Given the description of an element on the screen output the (x, y) to click on. 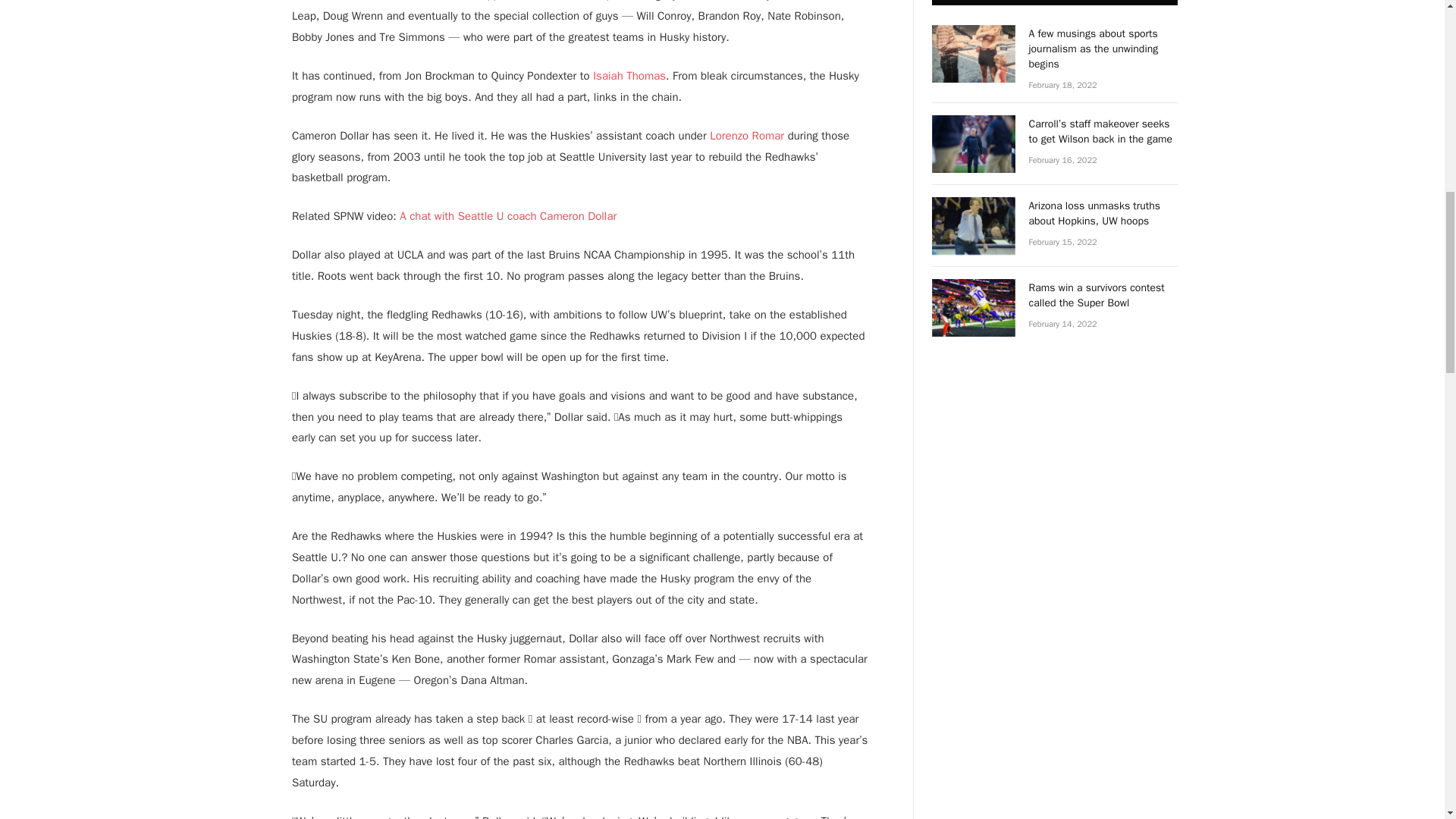
Isaiah Thomas (628, 75)
Lorenzo Romar (747, 135)
A chat with Seattle U coach Cameron Dollar (506, 215)
